Given the description of an element on the screen output the (x, y) to click on. 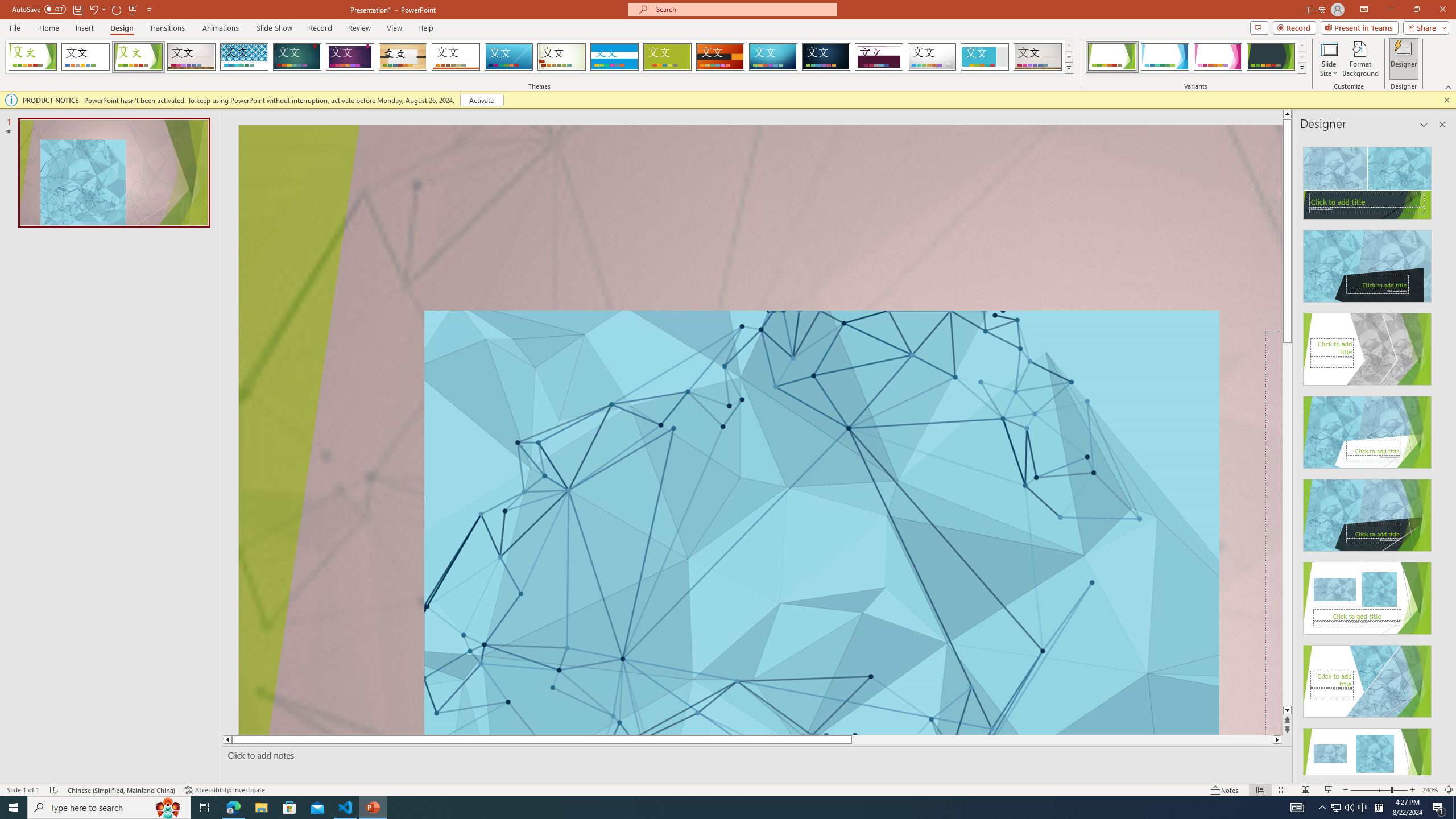
AutomationID: ThemeVariantsGallery (1195, 56)
Ion Boardroom (350, 56)
Integral (244, 56)
Facet (138, 56)
Slide Size (1328, 58)
Class: NetUIScrollBar (1441, 456)
